Given the description of an element on the screen output the (x, y) to click on. 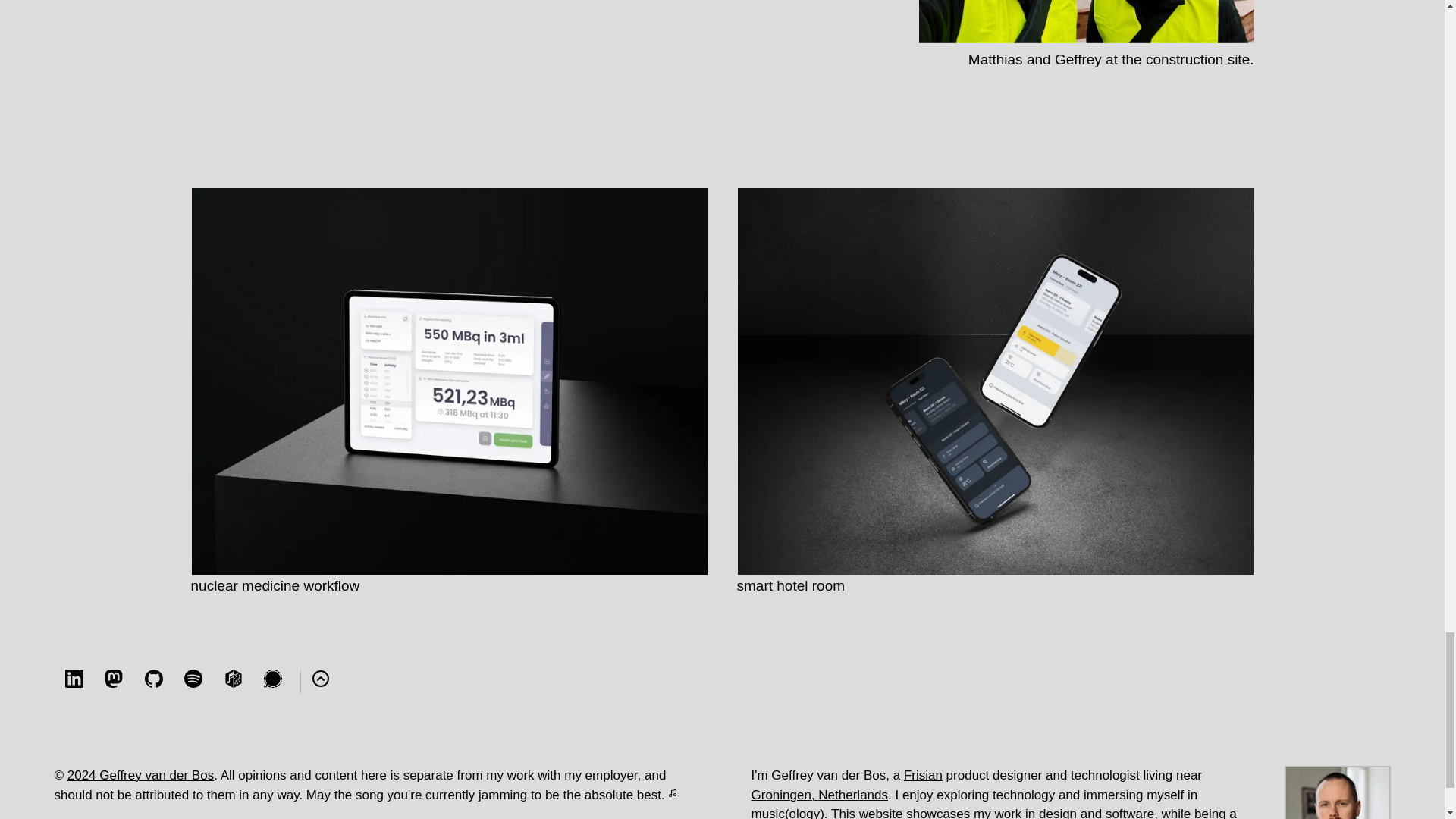
Read my copyright license. (140, 775)
Visit Geffrey on Linkedin (74, 682)
Go to top of page (320, 682)
Frisian (923, 775)
2024 Geffrey van der Bos (140, 775)
Visit Geffrey on Spotify (193, 682)
Visit Geffrey on PKM.social their Mastodon (113, 682)
MusicBrainz (233, 678)
MusicBrainz (233, 682)
Learn more about Frisians on Wikipedia (923, 775)
music (767, 812)
Visit Geffrey on ListenBrainz (233, 682)
Sent a message on Signal (273, 682)
